Given the description of an element on the screen output the (x, y) to click on. 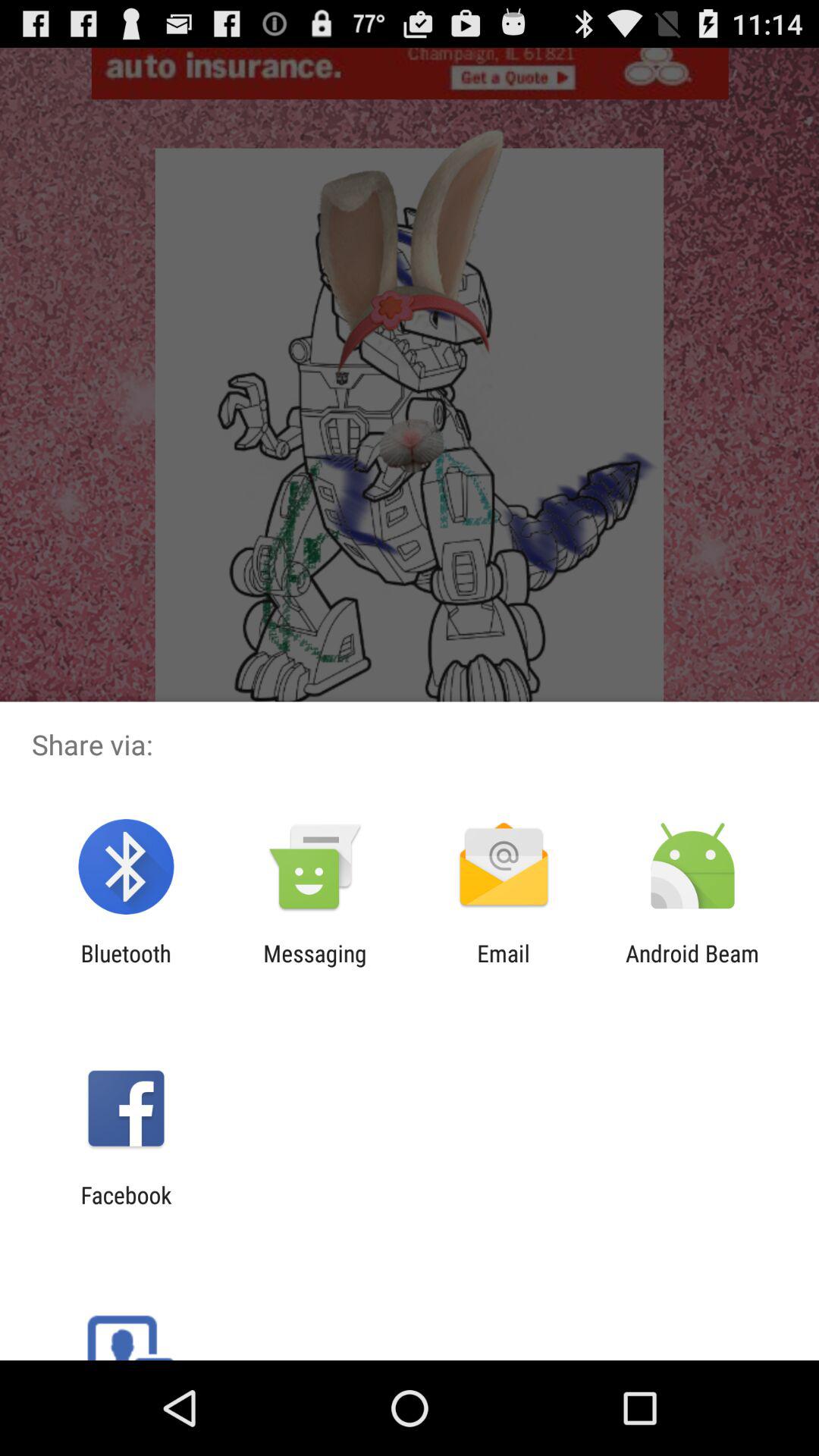
turn on the email (503, 966)
